Given the description of an element on the screen output the (x, y) to click on. 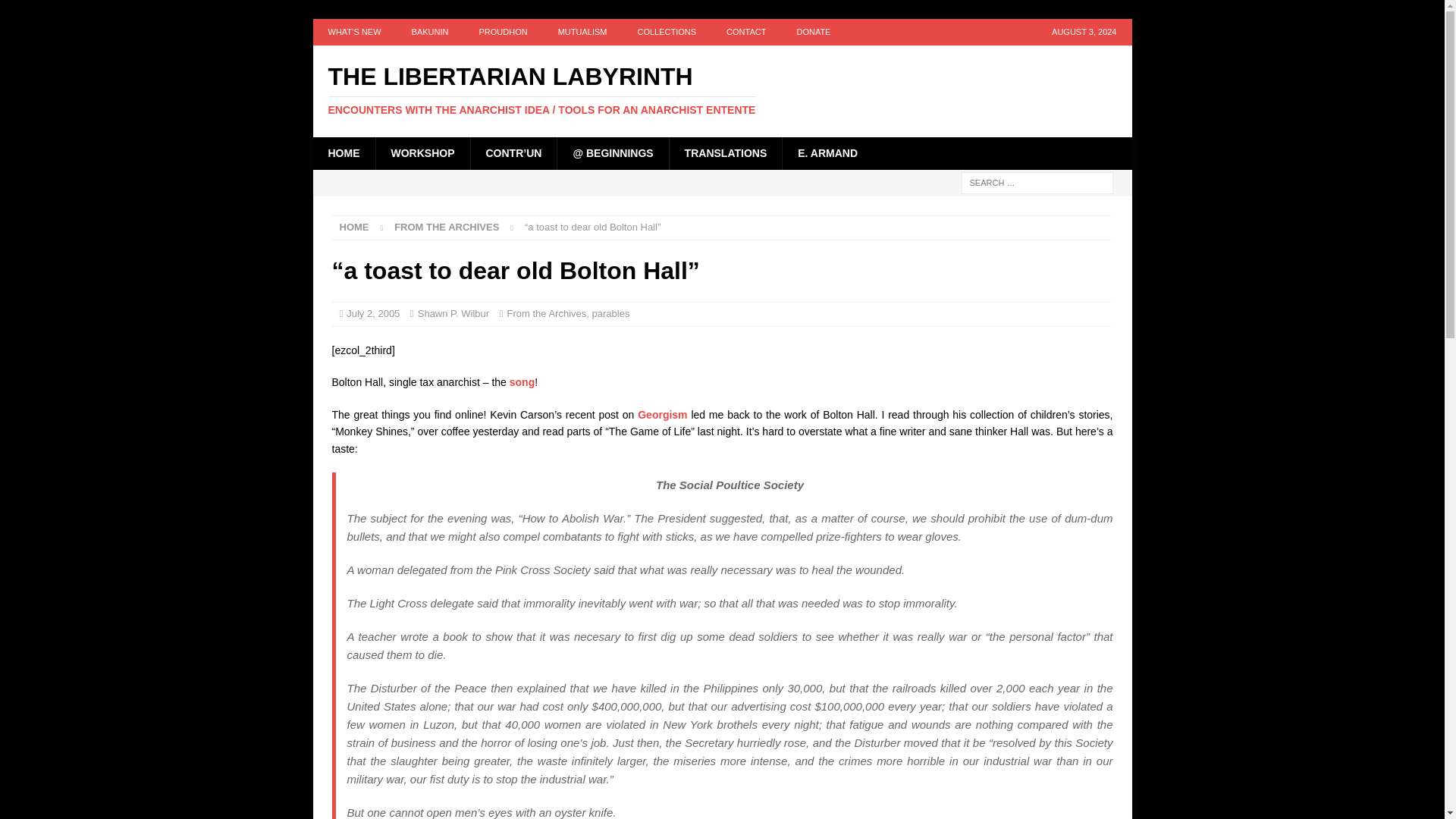
E. ARMAND (826, 152)
song (521, 381)
Home (354, 226)
From the Archives (546, 313)
Search (56, 11)
TRANSLATIONS (725, 152)
COLLECTIONS (666, 31)
HOME (343, 152)
parables (611, 313)
Shawn P. Wilbur (453, 313)
WORKSHOP (421, 152)
MUTUALISM (583, 31)
From the Archives (446, 226)
CONTACT (745, 31)
BAKUNIN (430, 31)
